Given the description of an element on the screen output the (x, y) to click on. 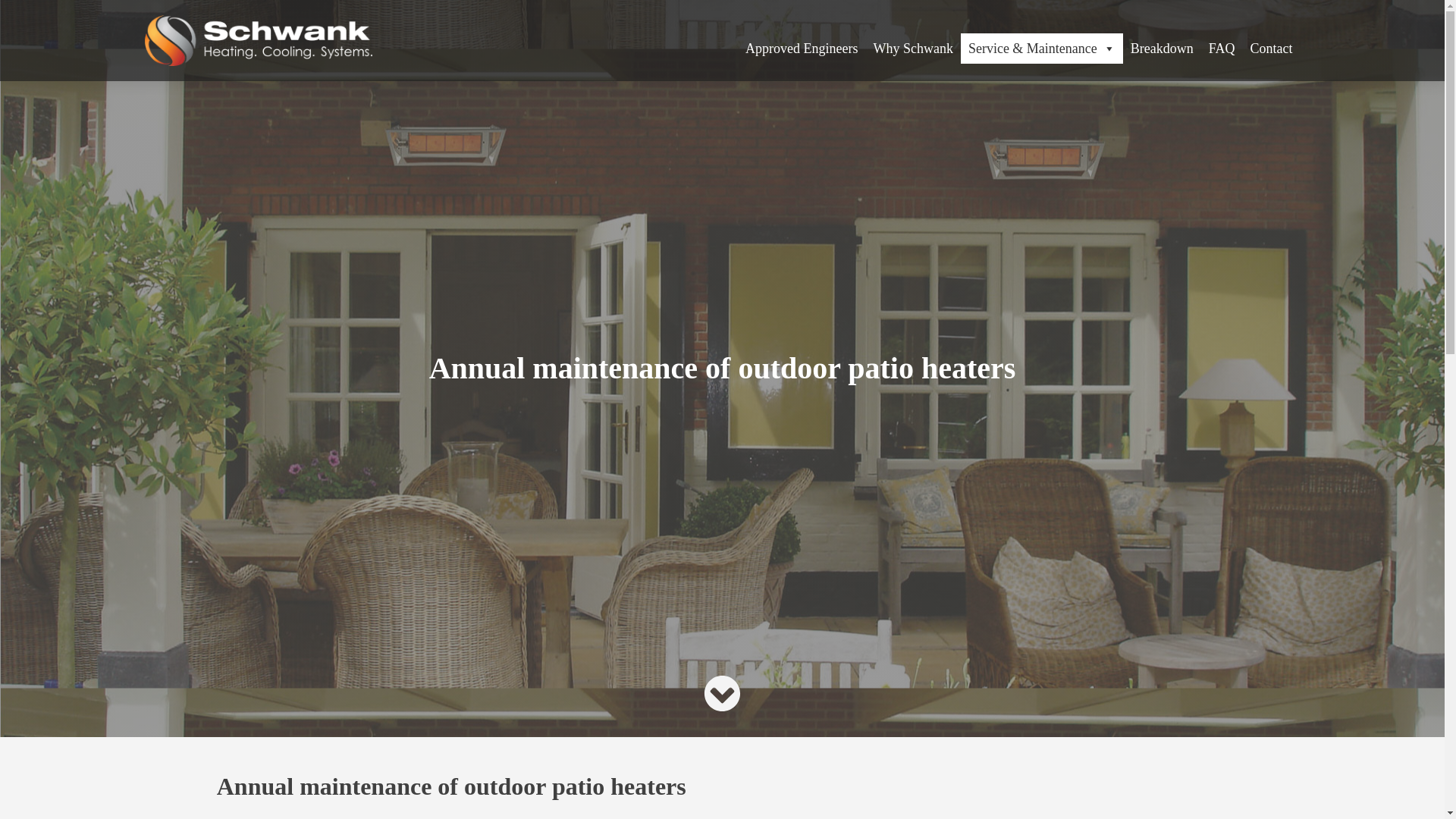
Contact (1270, 48)
Why Schwank (911, 48)
Approved Engineers (801, 48)
Breakdown (1161, 48)
FAQ (1222, 48)
